Given the description of an element on the screen output the (x, y) to click on. 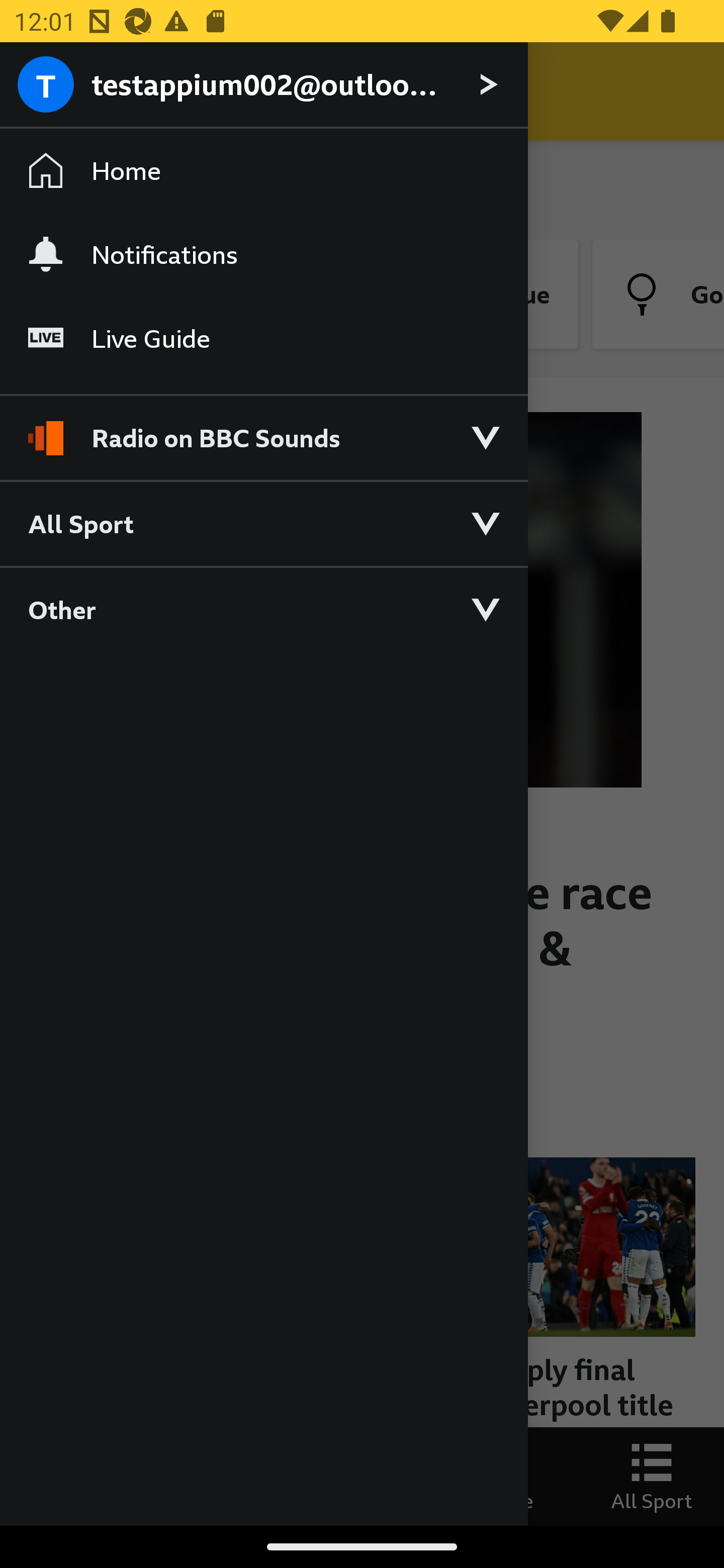
testappium002@outlook.com (263, 85)
Home (263, 170)
Notifications (263, 253)
Live Guide (263, 338)
Radio on BBC Sounds (263, 429)
All Sport (263, 522)
Other (263, 609)
